Given the description of an element on the screen output the (x, y) to click on. 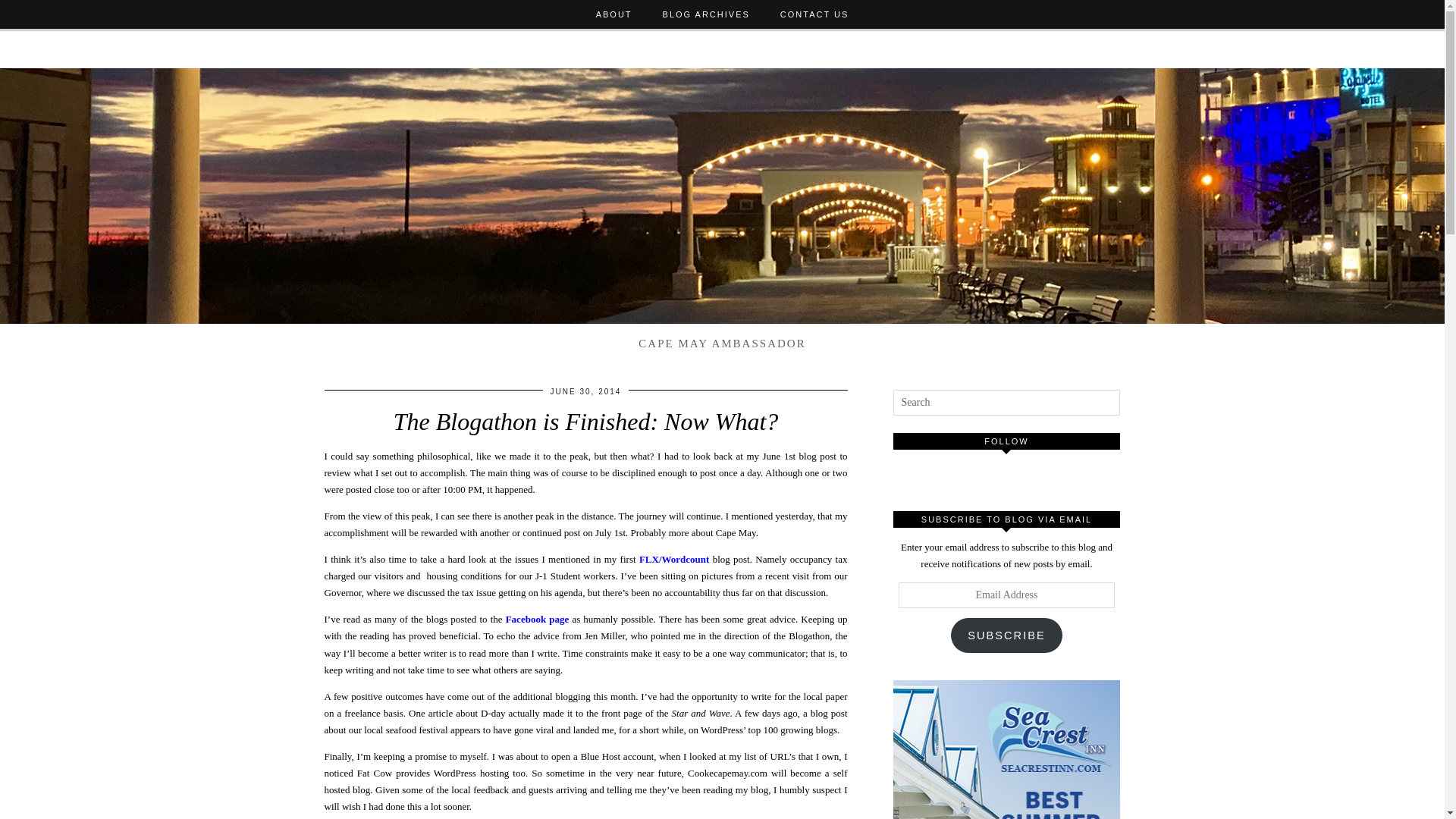
CONTACT US (814, 14)
BLOG ARCHIVES (706, 14)
ABOUT (613, 14)
Facebook page (537, 618)
